Given the description of an element on the screen output the (x, y) to click on. 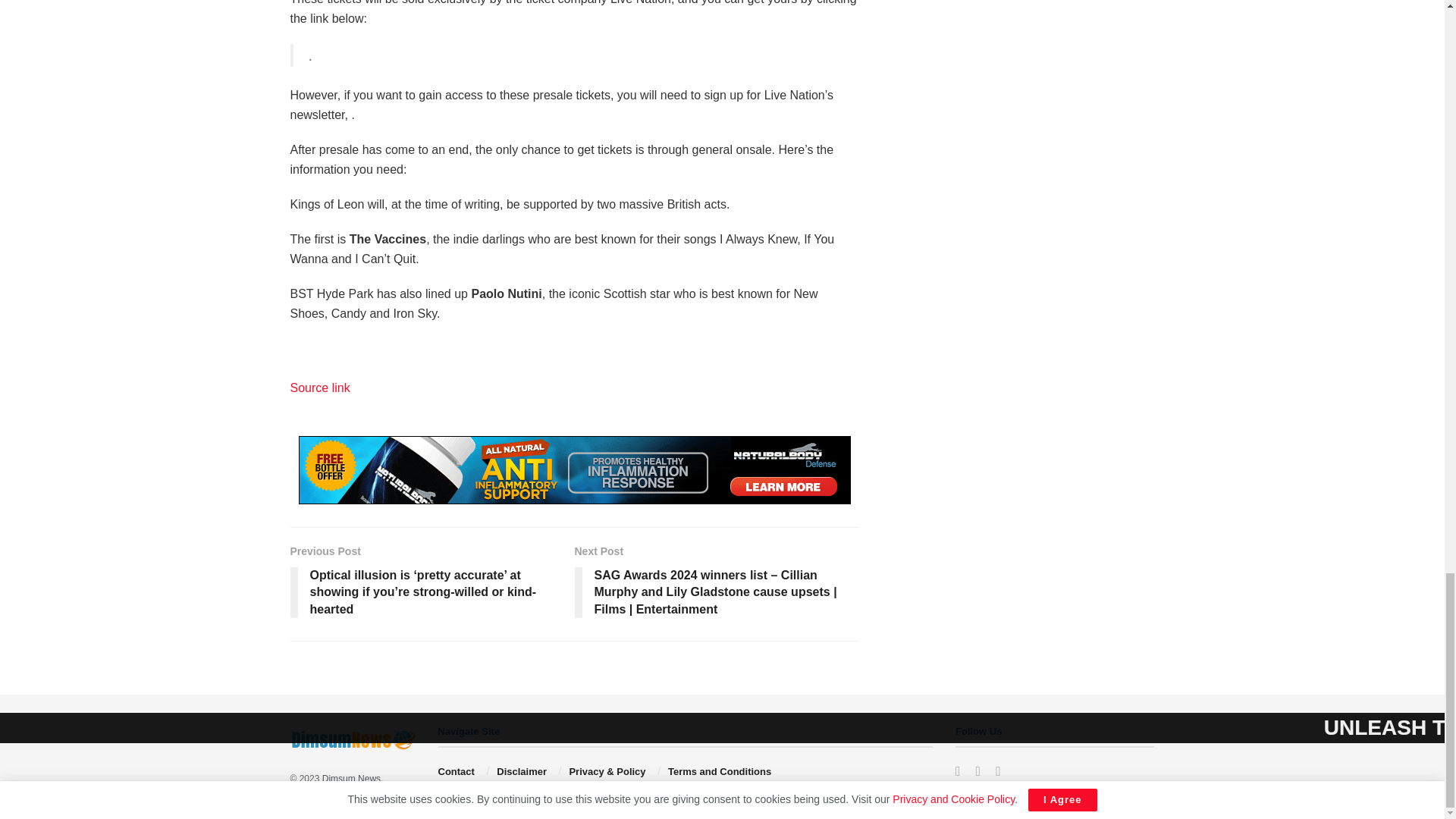
Techcast (350, 778)
